Given the description of an element on the screen output the (x, y) to click on. 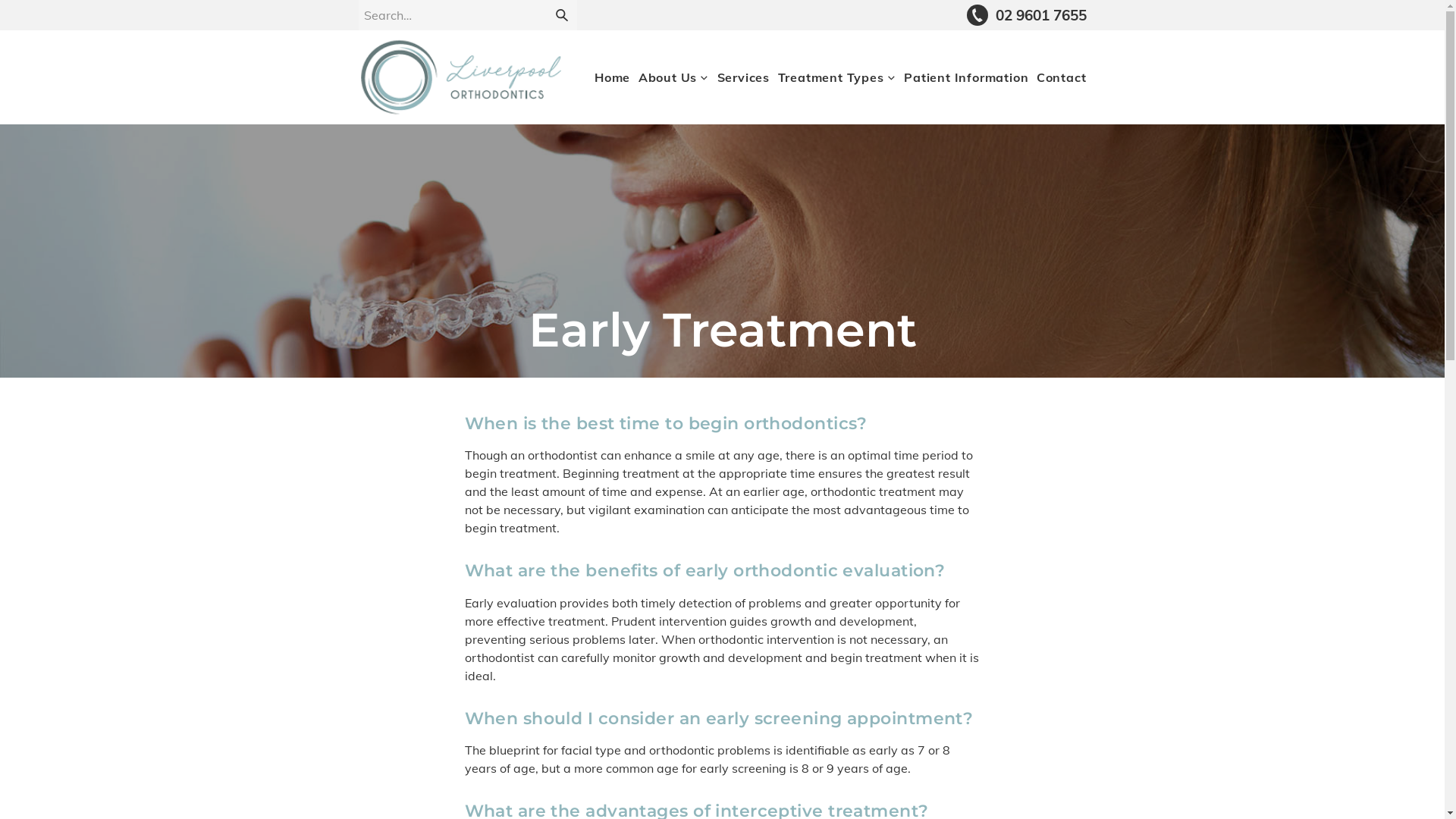
Search Element type: hover (561, 15)
Treatment Types Element type: text (837, 77)
02 9601 7655 Element type: text (1026, 14)
Home Element type: text (612, 77)
Services Element type: text (743, 77)
About Us Element type: text (673, 77)
Contact Element type: text (1061, 77)
Patient Information Element type: text (965, 77)
